Given the description of an element on the screen output the (x, y) to click on. 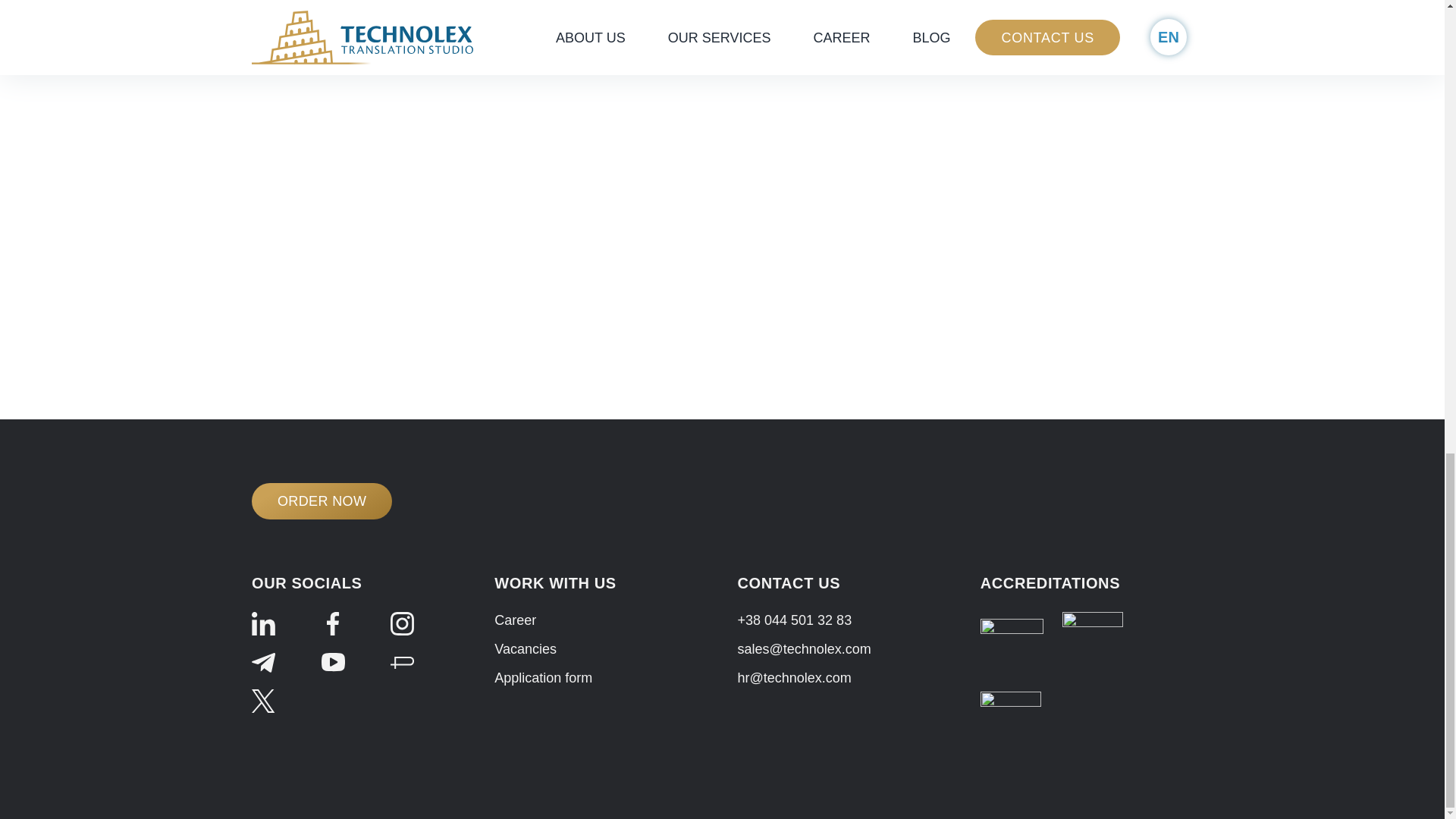
ORDER NOW (321, 501)
Career (515, 620)
Vacancies (525, 648)
Application form (543, 677)
